Given the description of an element on the screen output the (x, y) to click on. 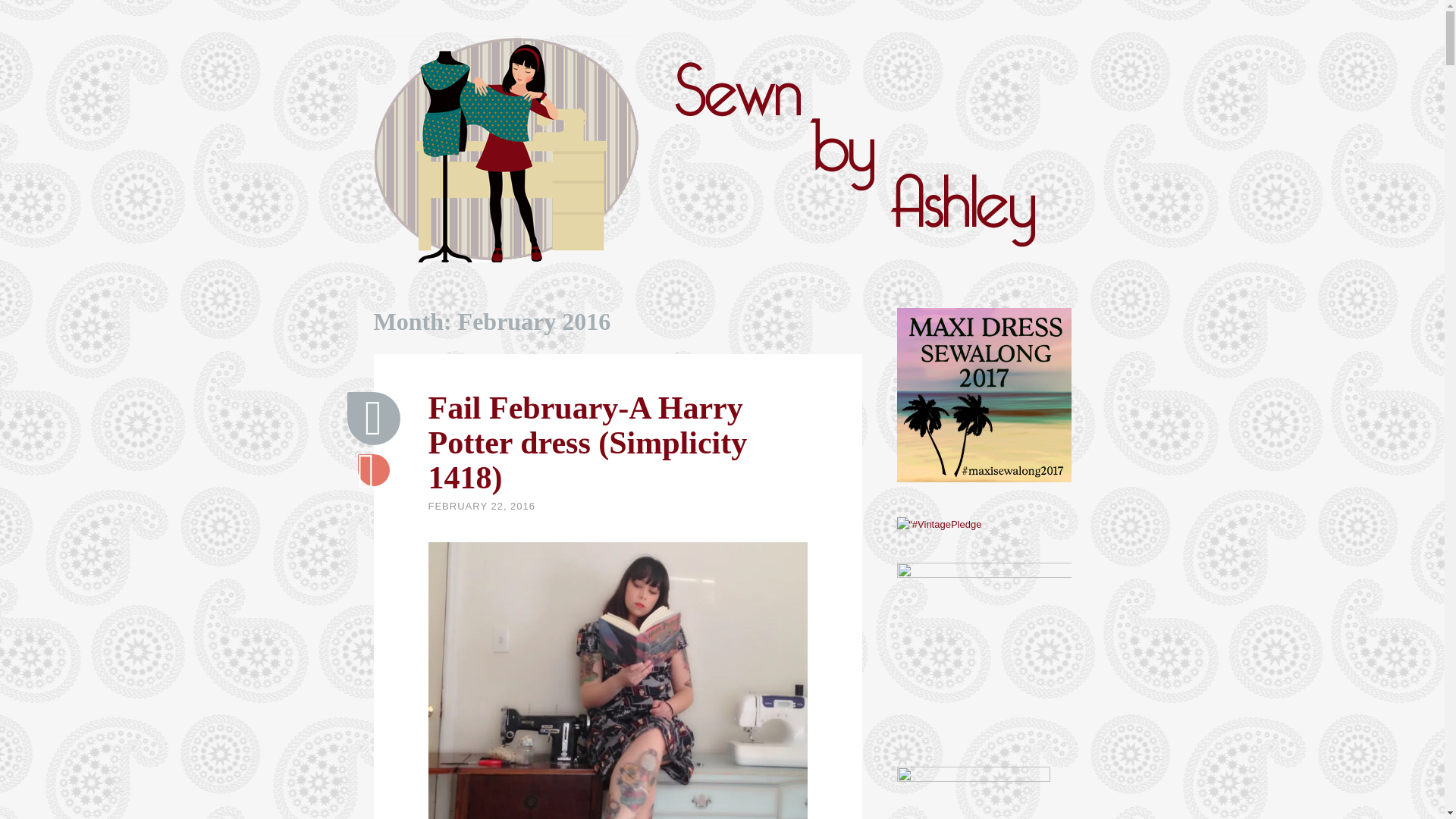
Sewn by Ashley (418, 328)
Sewn by Ashley (418, 328)
FEBRUARY 22, 2016 (481, 505)
